Given the description of an element on the screen output the (x, y) to click on. 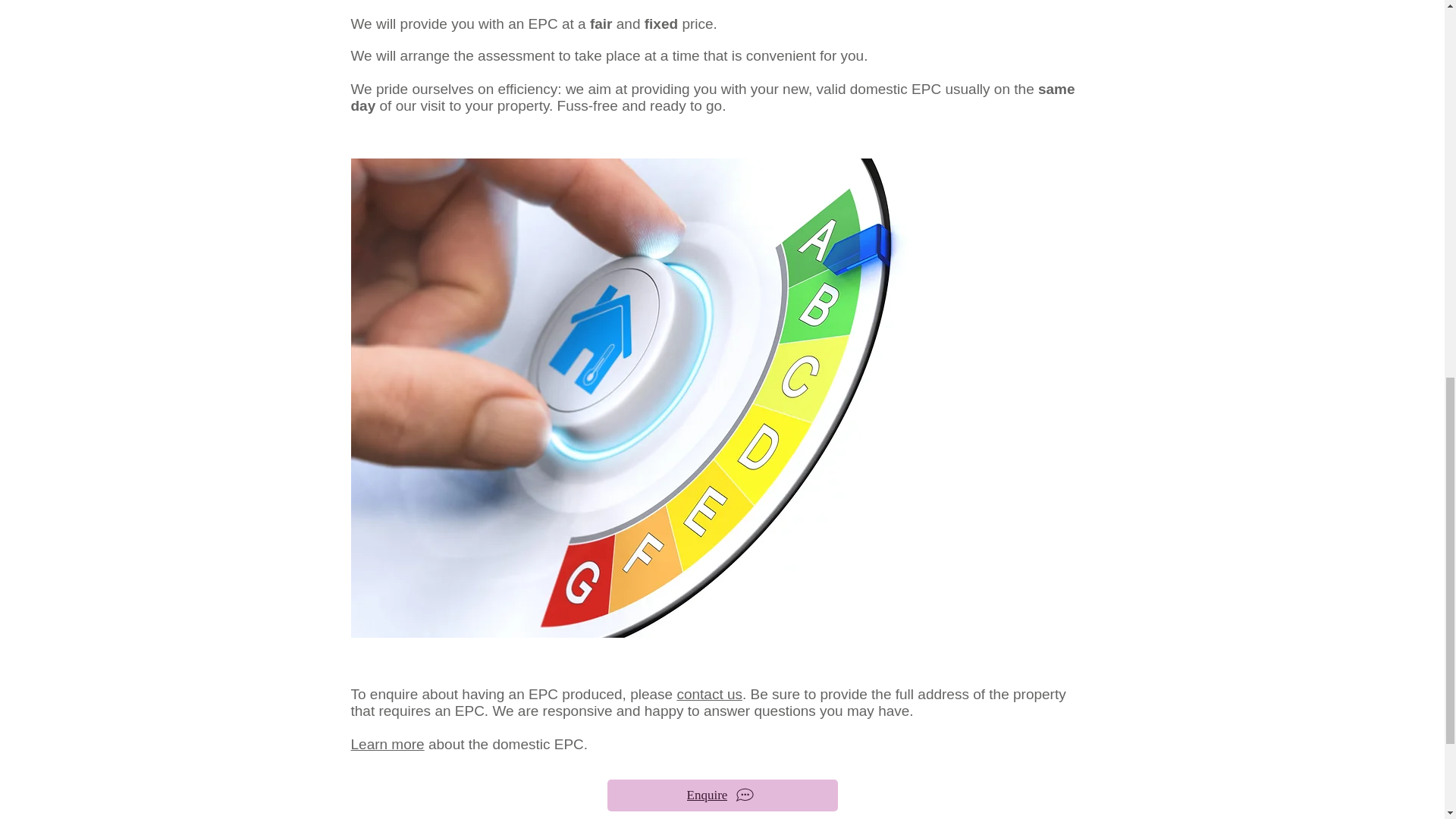
contact us (709, 693)
Learn more (386, 744)
Enquire (722, 795)
